Given the description of an element on the screen output the (x, y) to click on. 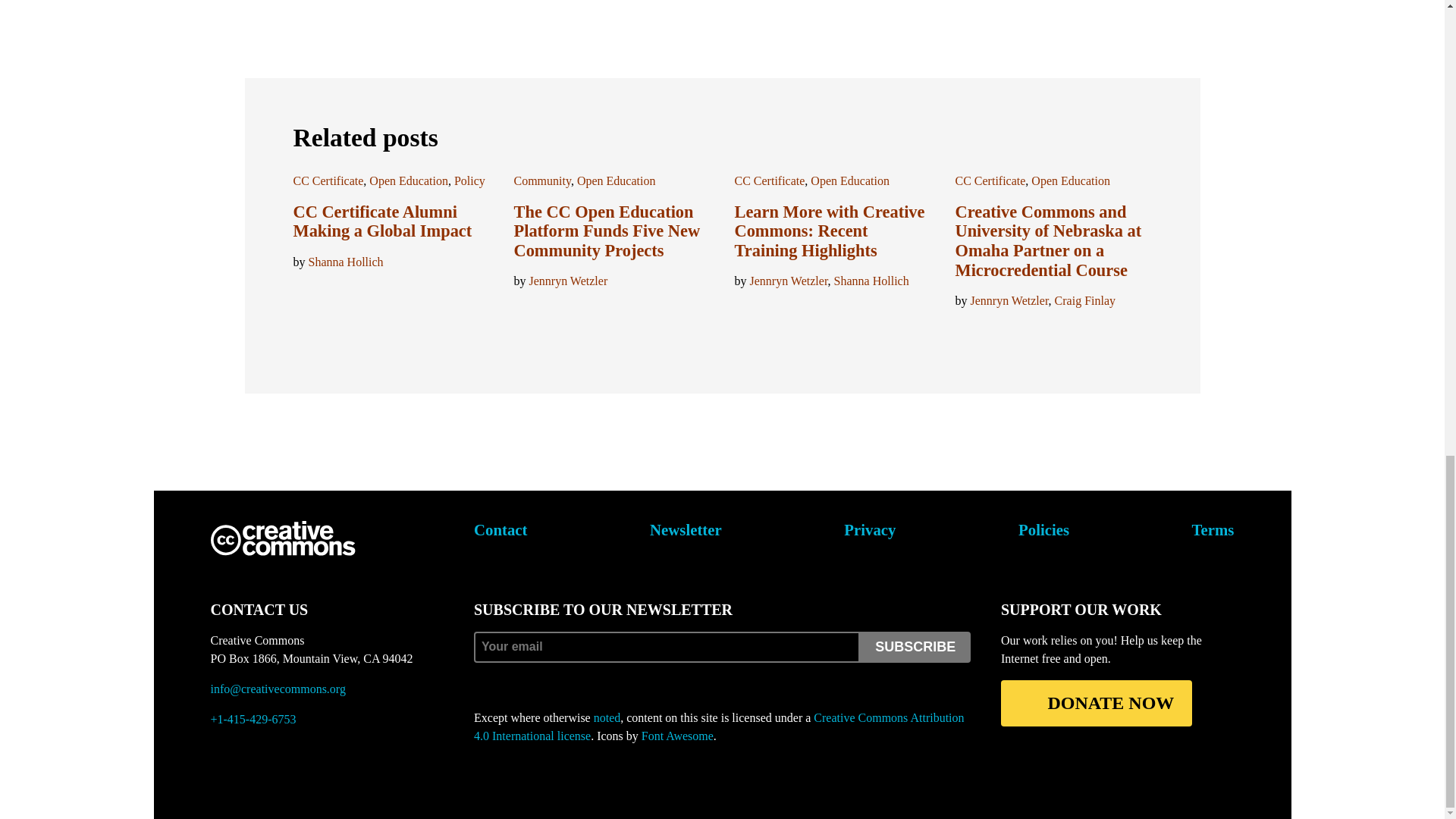
Open Education (616, 180)
subscribe (915, 646)
Jennryn Wetzler (568, 280)
CC Certificate (327, 180)
Policy (469, 180)
CC Certificate Alumni Making a Global Impact (381, 221)
Jennryn Wetzler (788, 280)
Open Education (408, 180)
Community (541, 180)
